Given the description of an element on the screen output the (x, y) to click on. 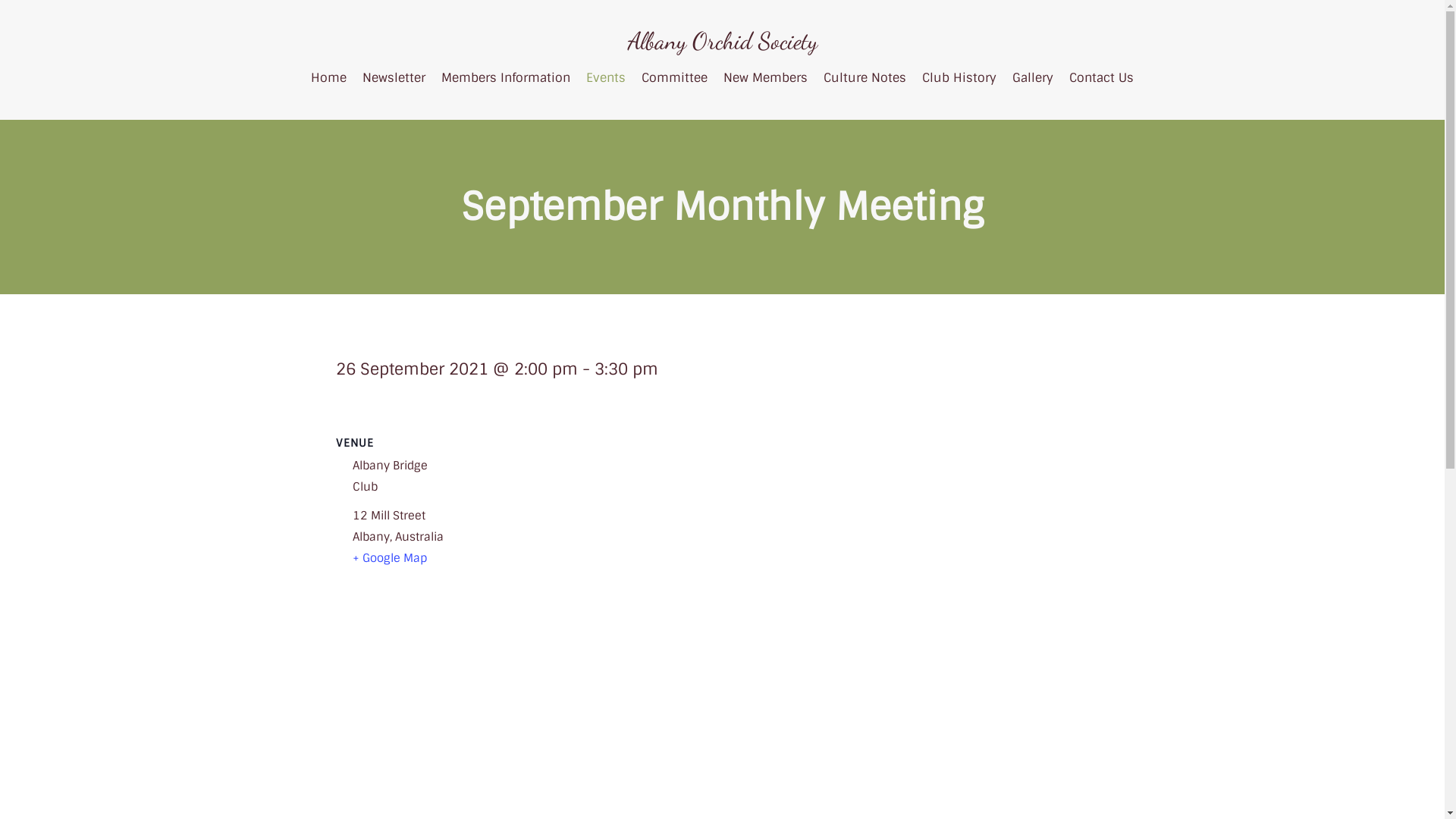
Contact Us Element type: text (1101, 76)
Gallery Element type: text (1032, 76)
Culture Notes Element type: text (864, 76)
Events Element type: text (605, 76)
Home Element type: text (328, 76)
Newsletter Element type: text (393, 76)
Members Information Element type: text (505, 76)
New Members Element type: text (765, 76)
Club History Element type: text (959, 76)
+ Google Map Element type: text (389, 557)
Albany Orchid Society Element type: text (722, 40)
Committee Element type: text (674, 76)
